Given the description of an element on the screen output the (x, y) to click on. 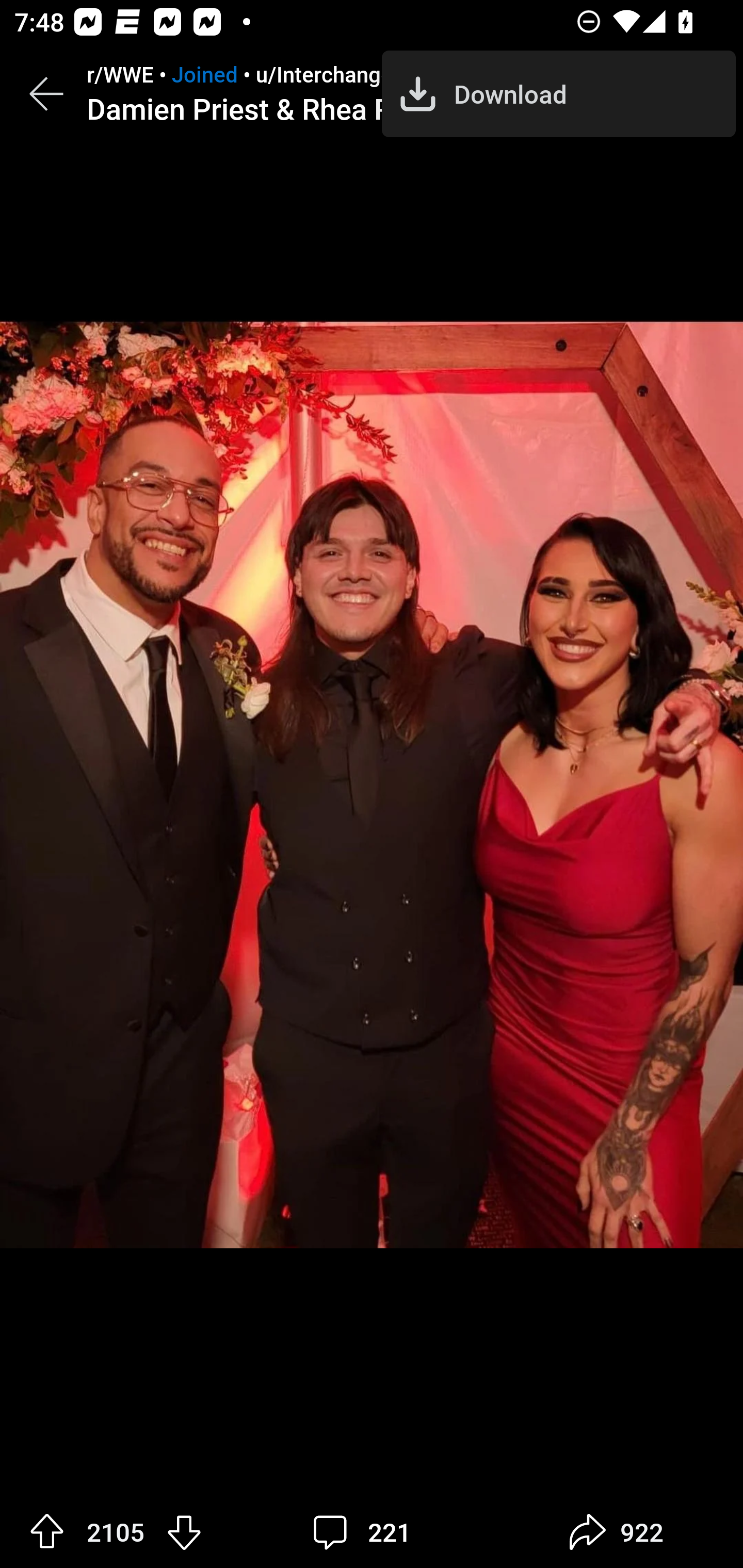
Download (558, 93)
